Given the description of an element on the screen output the (x, y) to click on. 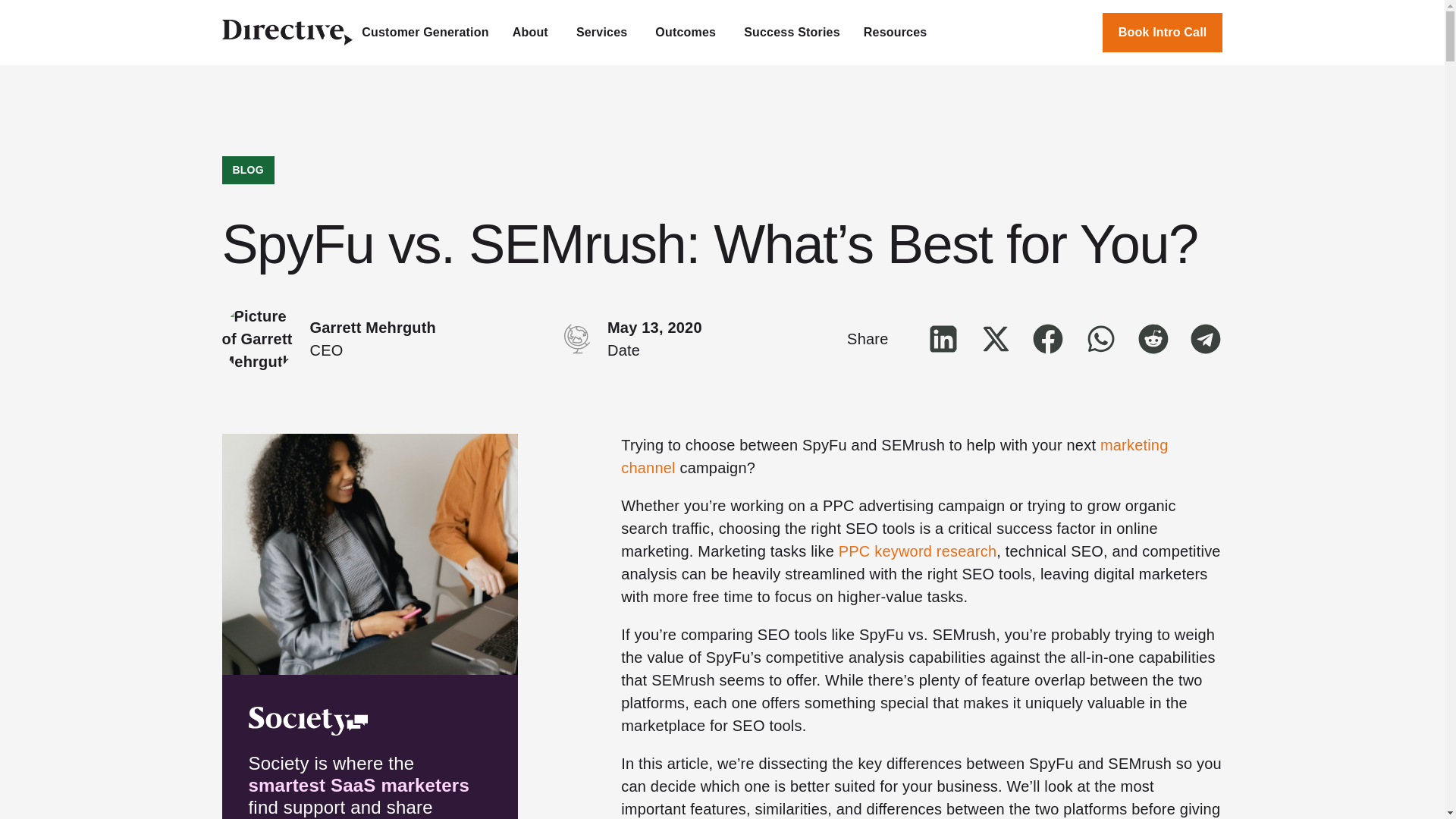
Customer Generation (424, 32)
Services (603, 32)
About (532, 32)
Outcomes (687, 32)
